Given the description of an element on the screen output the (x, y) to click on. 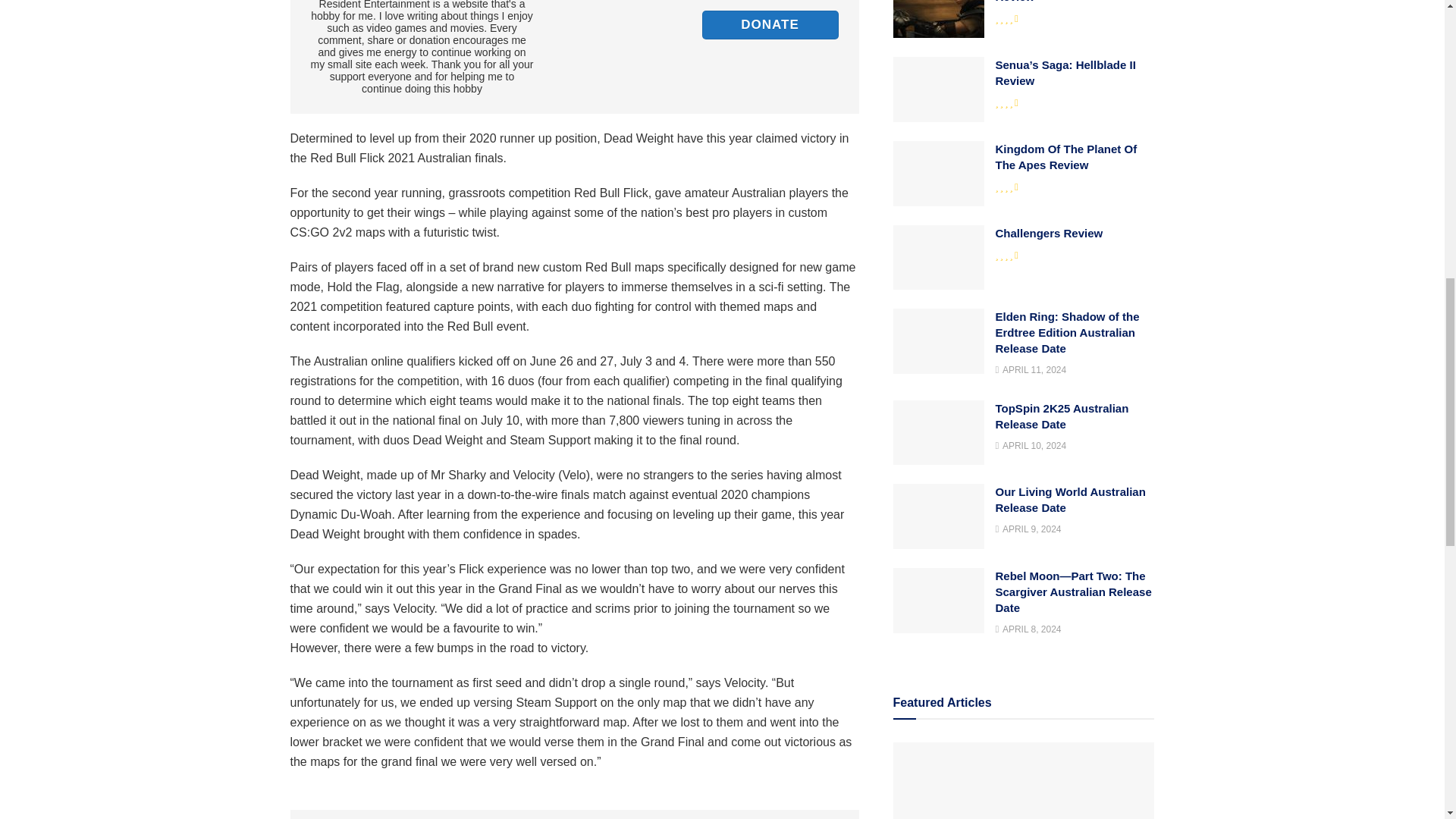
DONATE (769, 24)
